Given the description of an element on the screen output the (x, y) to click on. 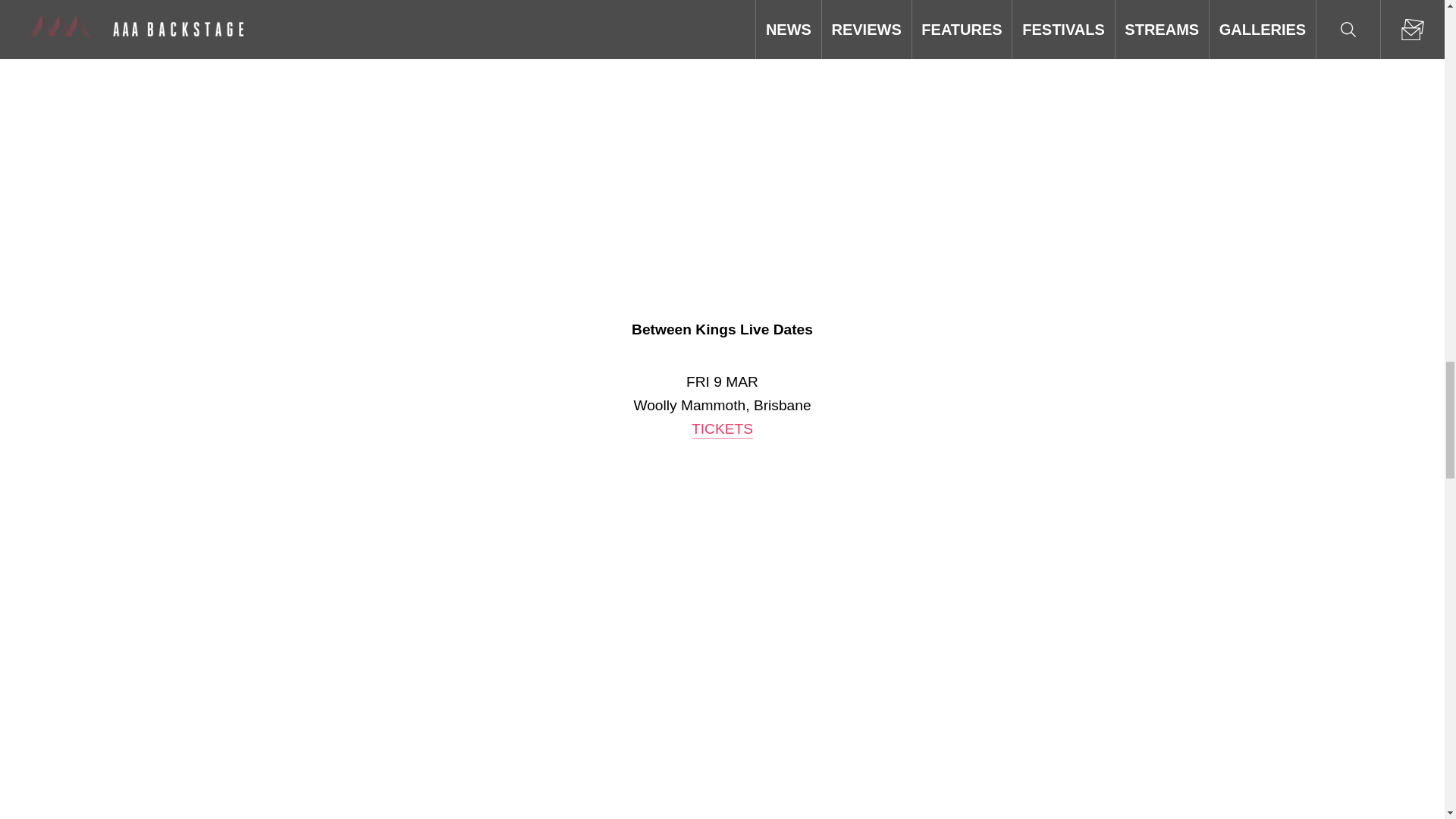
TICKETS (721, 429)
